Given the description of an element on the screen output the (x, y) to click on. 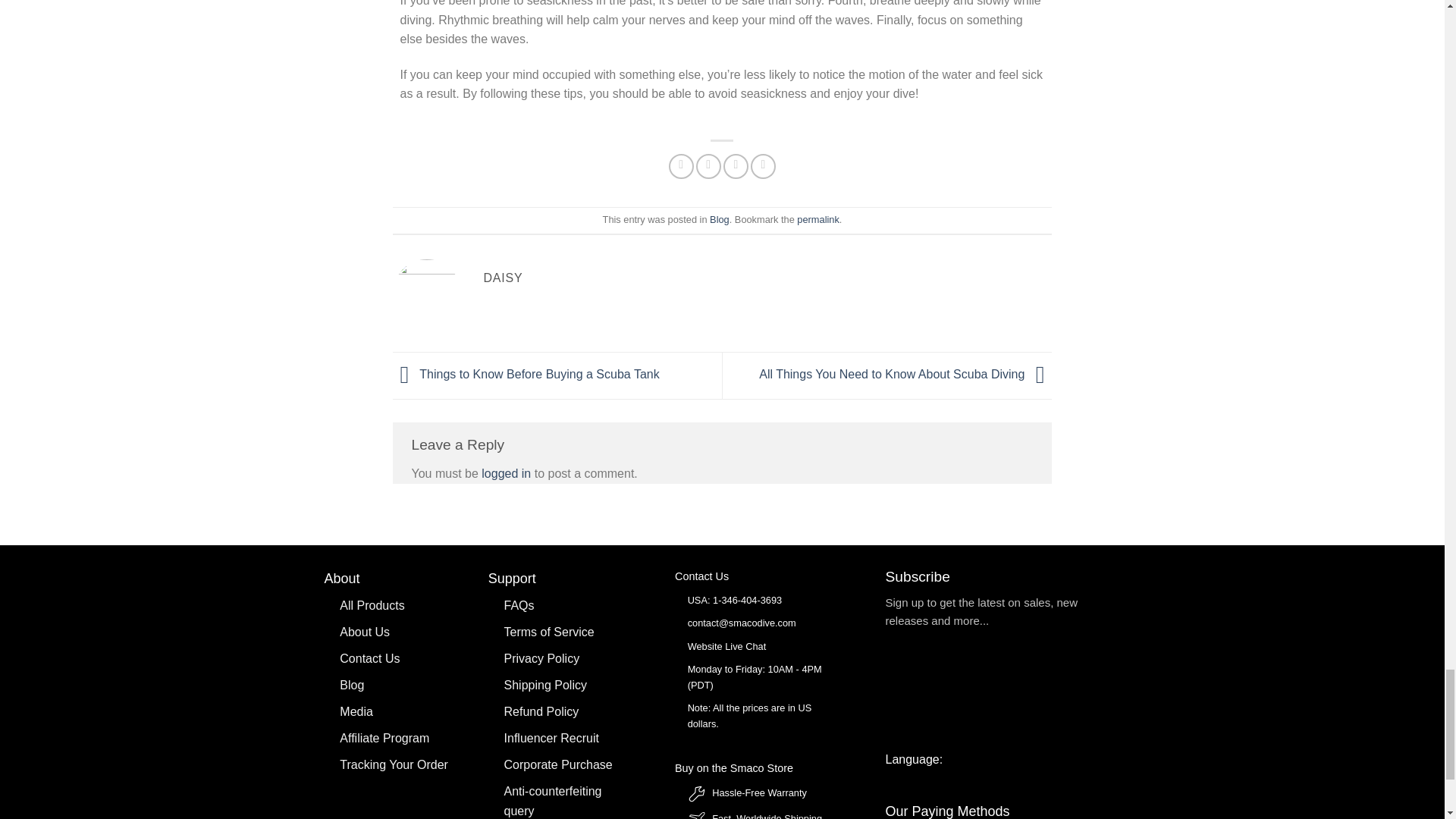
Pin on Pinterest (763, 166)
Email to a Friend (735, 166)
Permalink to Tips to Avoid Seasickness While Scuba Diving (817, 219)
Share on Twitter (707, 166)
Share on Facebook (681, 166)
